Given the description of an element on the screen output the (x, y) to click on. 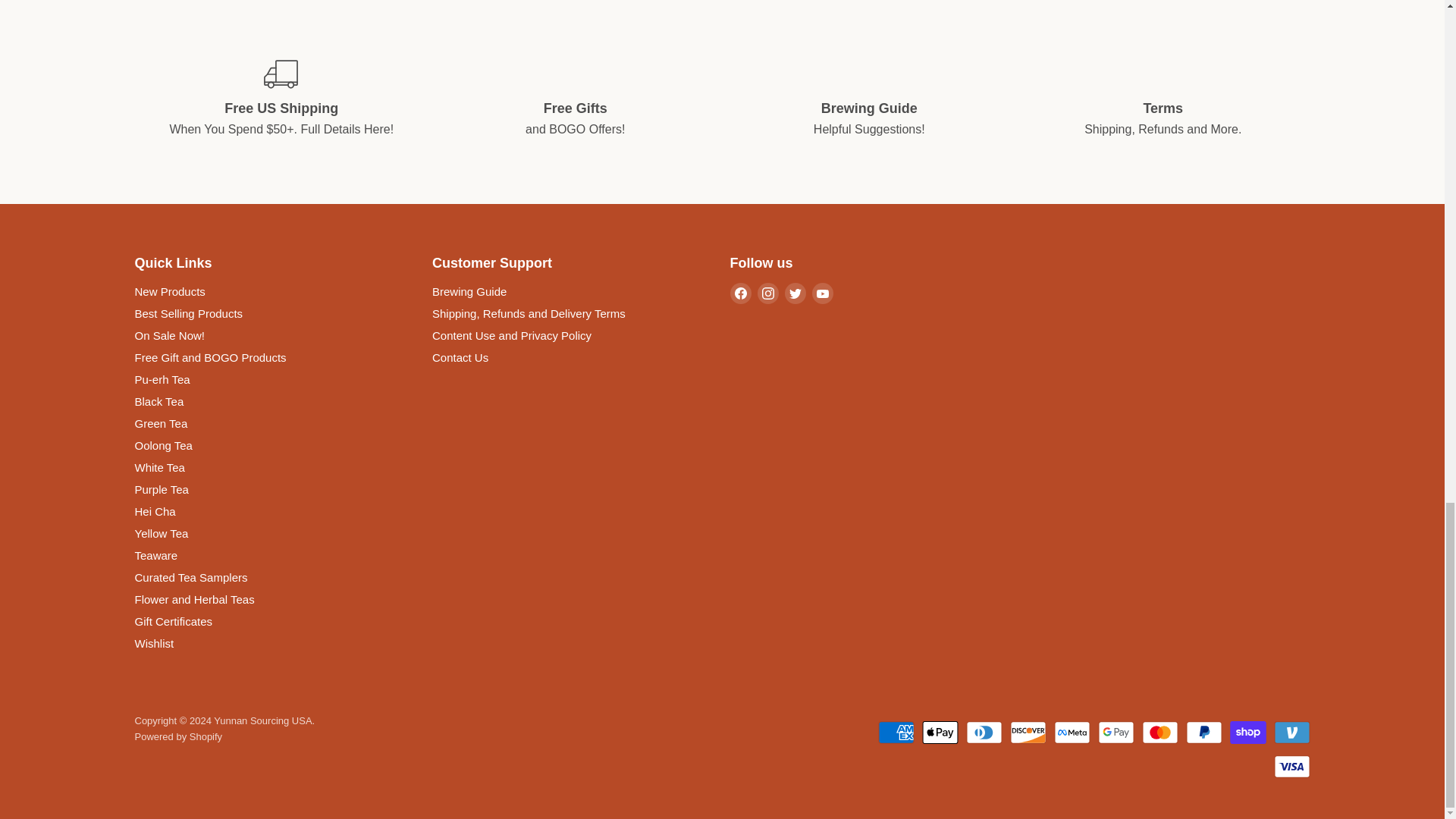
YouTube (821, 292)
Facebook (740, 292)
Instagram (767, 292)
Twitter (794, 292)
